Given the description of an element on the screen output the (x, y) to click on. 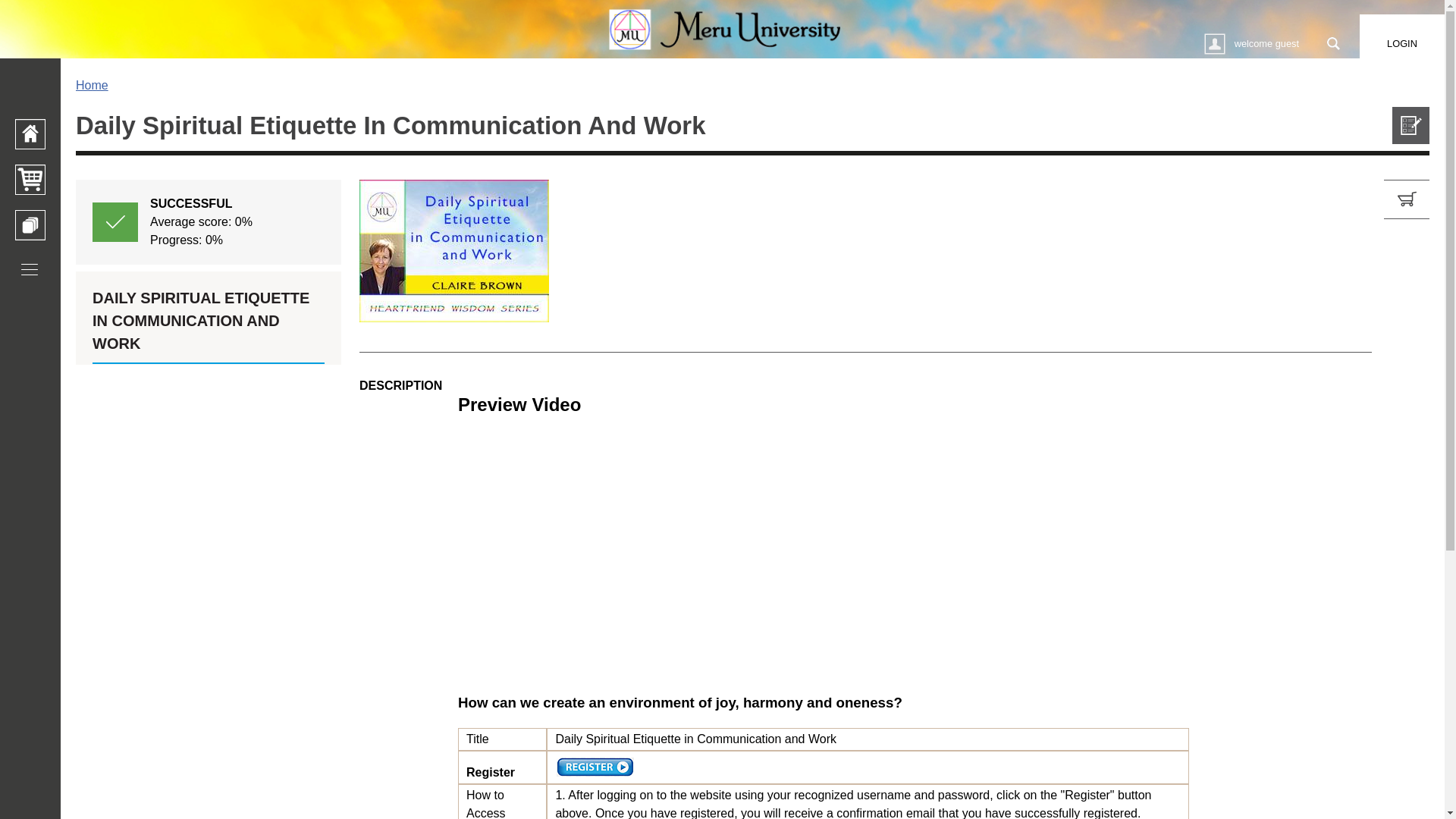
Shopping Cart (29, 179)
LOGIN (1402, 43)
DAILY SPIRITUAL ETIQUETTE IN COMMUNICATION AND WORK (208, 324)
Add to cart (1406, 198)
YouTube video player (670, 553)
Home (91, 84)
Search (1332, 43)
Daily Spiritual Etiquette in Communication and Work (1410, 125)
Available Courses (29, 224)
